Given the description of an element on the screen output the (x, y) to click on. 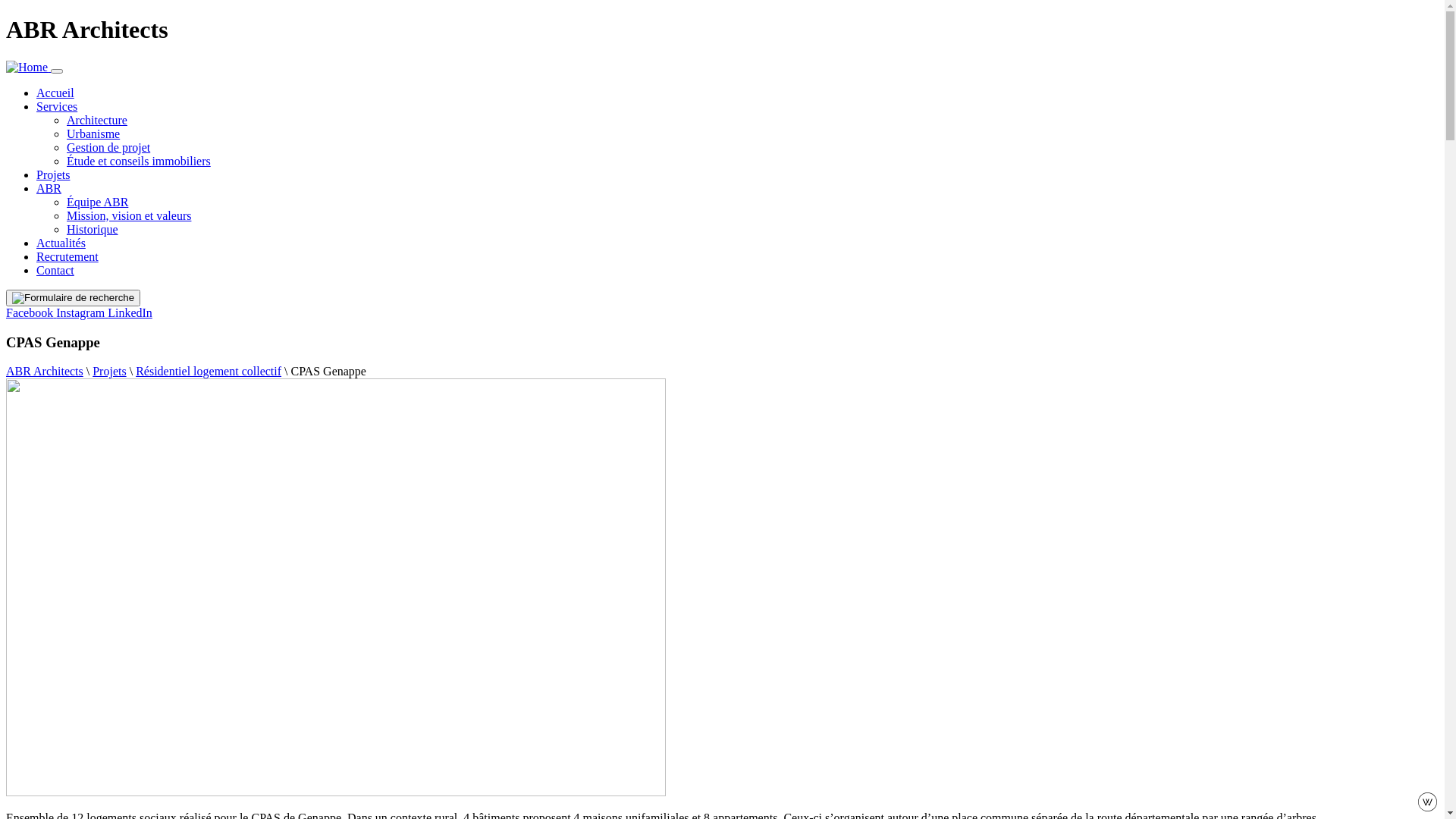
Mission, vision et valeurs Element type: text (128, 215)
Instagram Element type: text (81, 312)
Gestion de projet Element type: text (108, 147)
Contact Element type: text (55, 269)
Accueil Element type: text (55, 92)
Historique Element type: text (92, 228)
LinkedIn Element type: text (129, 312)
Architecture Element type: text (96, 119)
Recrutement Element type: text (67, 256)
Projets Element type: text (108, 370)
ABR Architects Element type: text (44, 370)
Facebook Element type: text (31, 312)
Projets Element type: text (52, 174)
ABR Element type: text (48, 188)
Services Element type: text (56, 106)
Urbanisme Element type: text (92, 133)
Home Element type: hover (28, 66)
WE JUNE - Digital Agency Element type: hover (1427, 806)
